Given the description of an element on the screen output the (x, y) to click on. 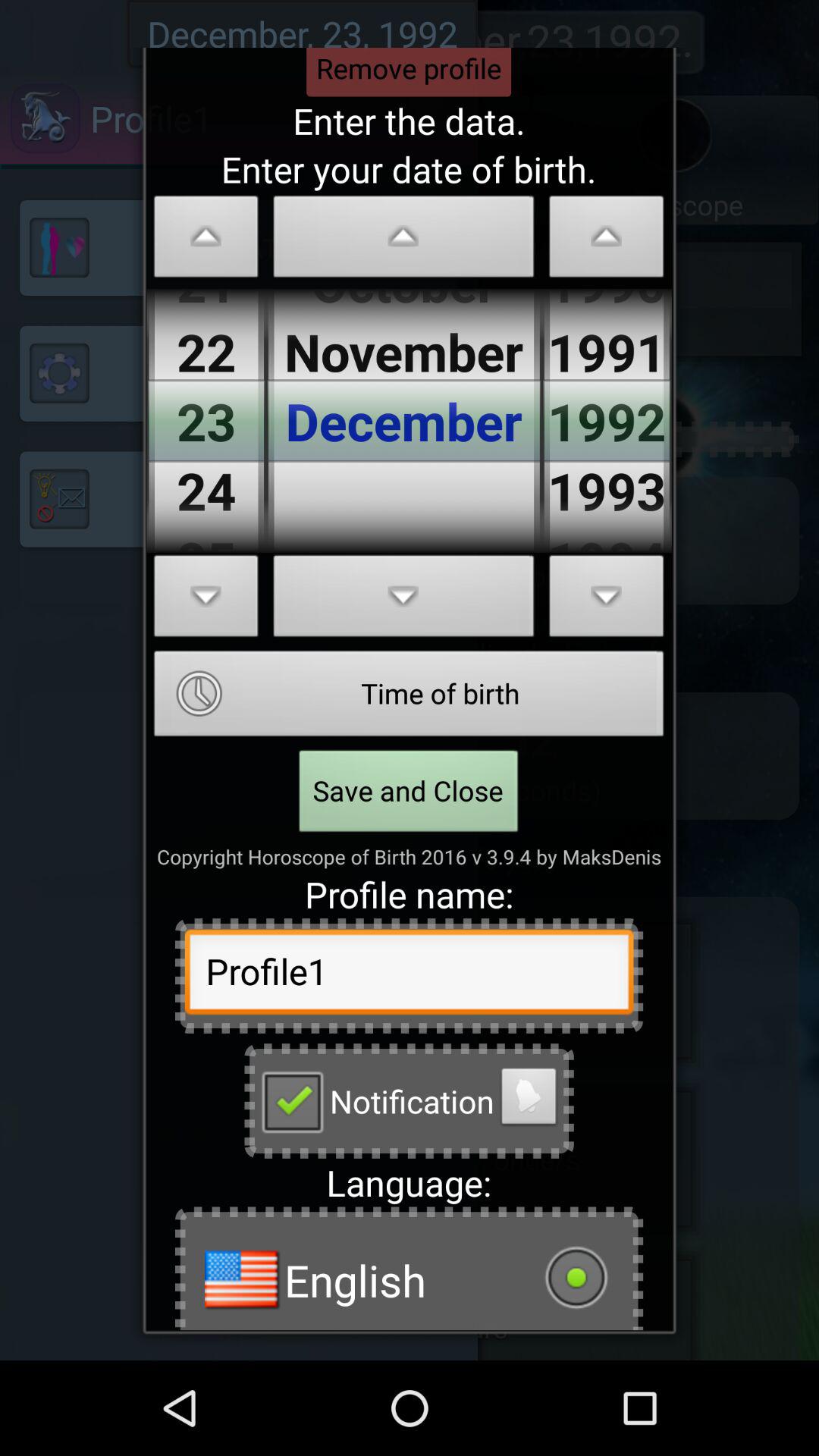
increase date of birth value (206, 600)
